Given the description of an element on the screen output the (x, y) to click on. 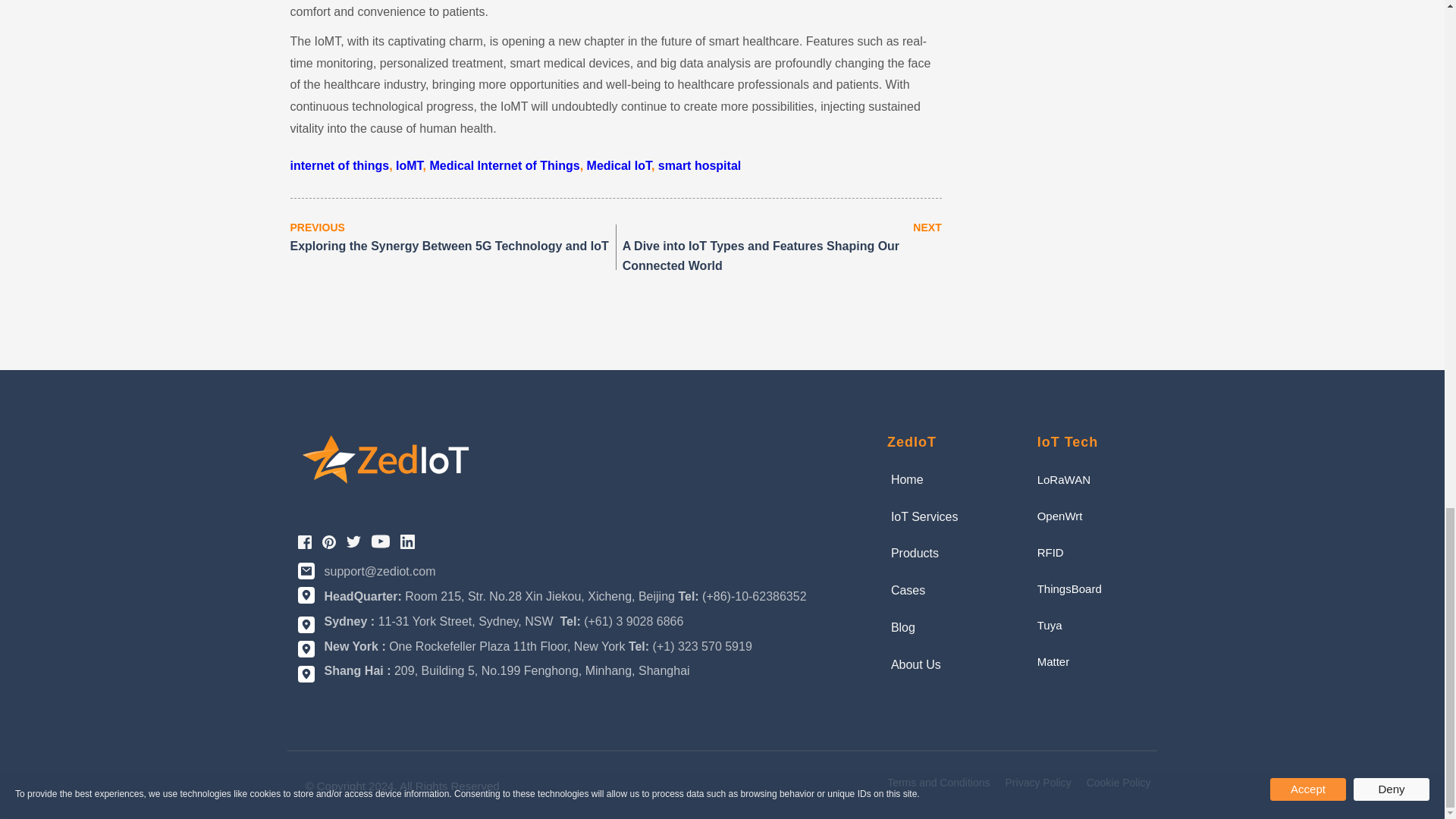
Exploring the Medical Internet of Things 2 (385, 460)
